Given the description of an element on the screen output the (x, y) to click on. 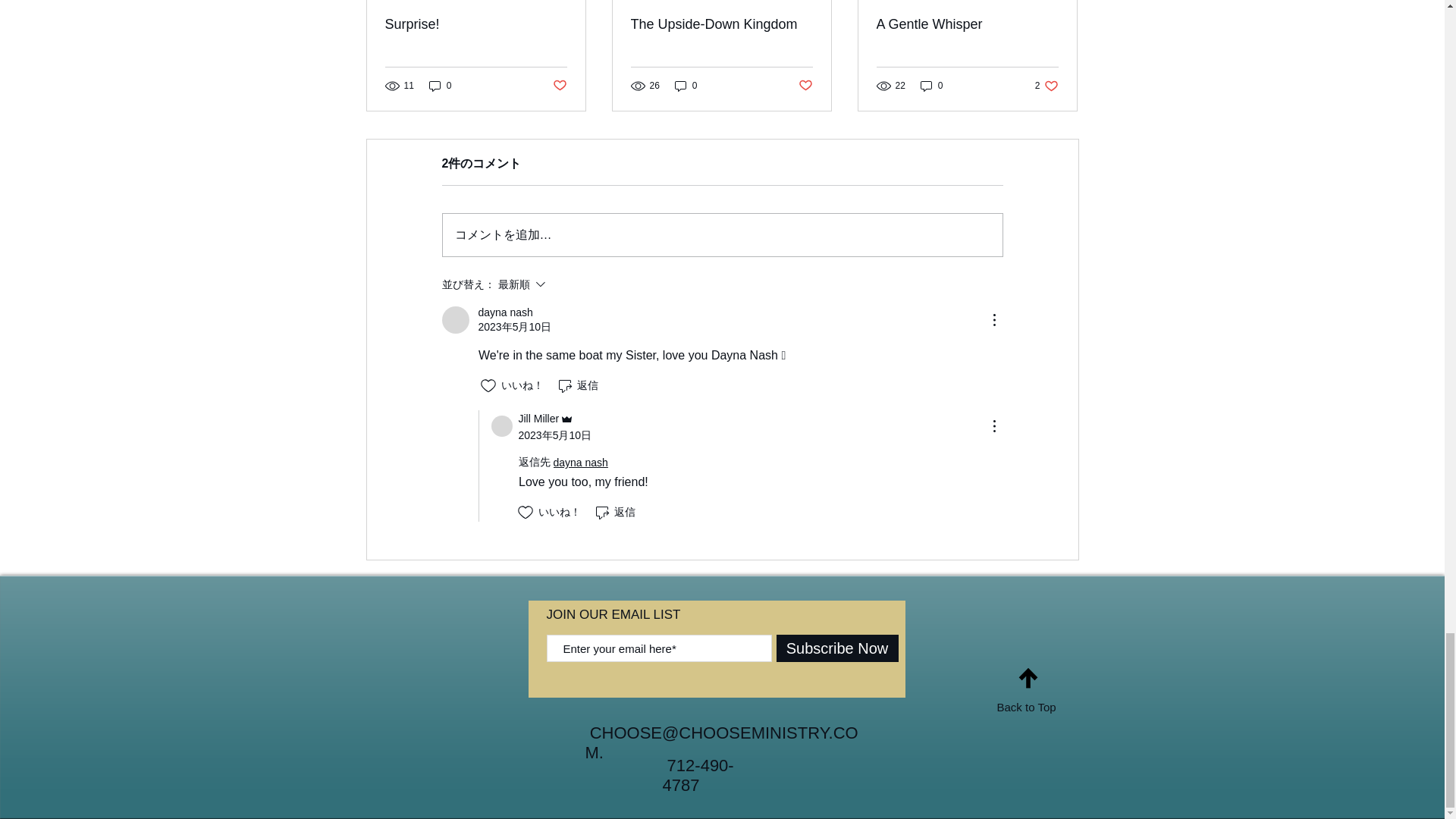
A Gentle Whisper (967, 24)
0 (931, 85)
Post not marked as liked (1046, 85)
dayna nash (558, 85)
0 (454, 319)
Surprise! (685, 85)
Post not marked as liked (476, 24)
The Upside-Down Kingdom (804, 85)
0 (721, 24)
Jill Miller (440, 85)
Jill Miller (548, 419)
dayna nash (502, 425)
